Given the description of an element on the screen output the (x, y) to click on. 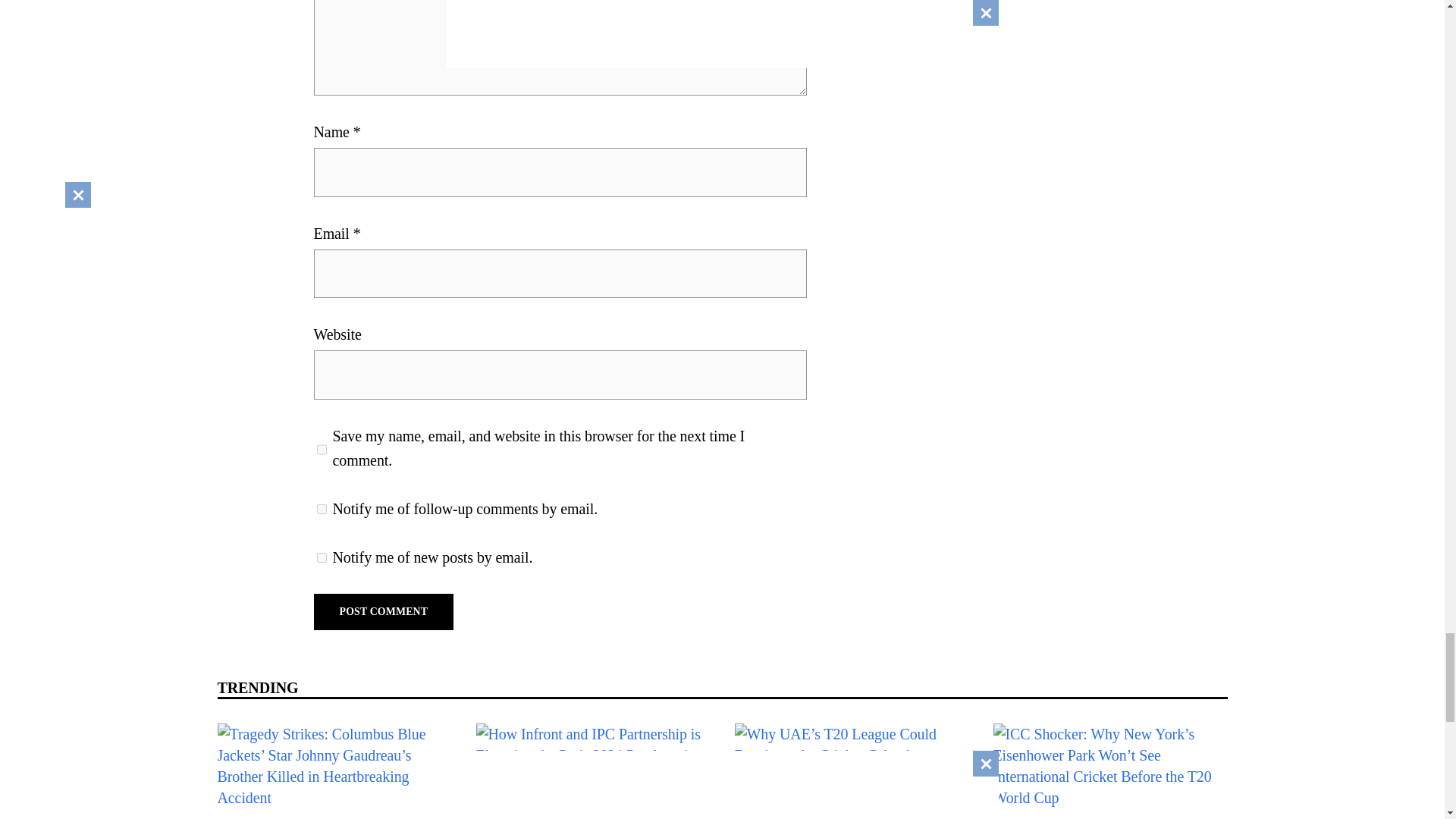
subscribe (321, 557)
Post Comment (384, 611)
subscribe (321, 509)
